Given the description of an element on the screen output the (x, y) to click on. 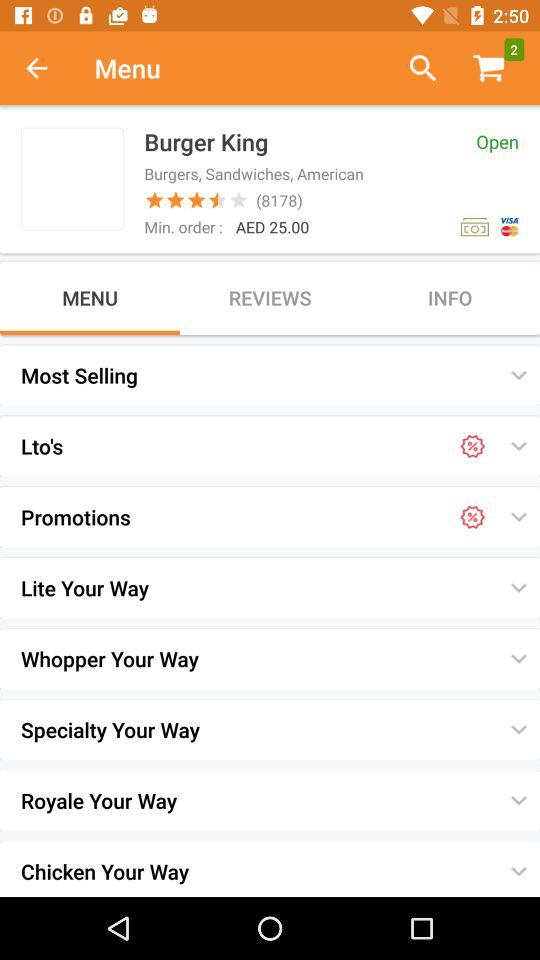
go back (47, 68)
